Given the description of an element on the screen output the (x, y) to click on. 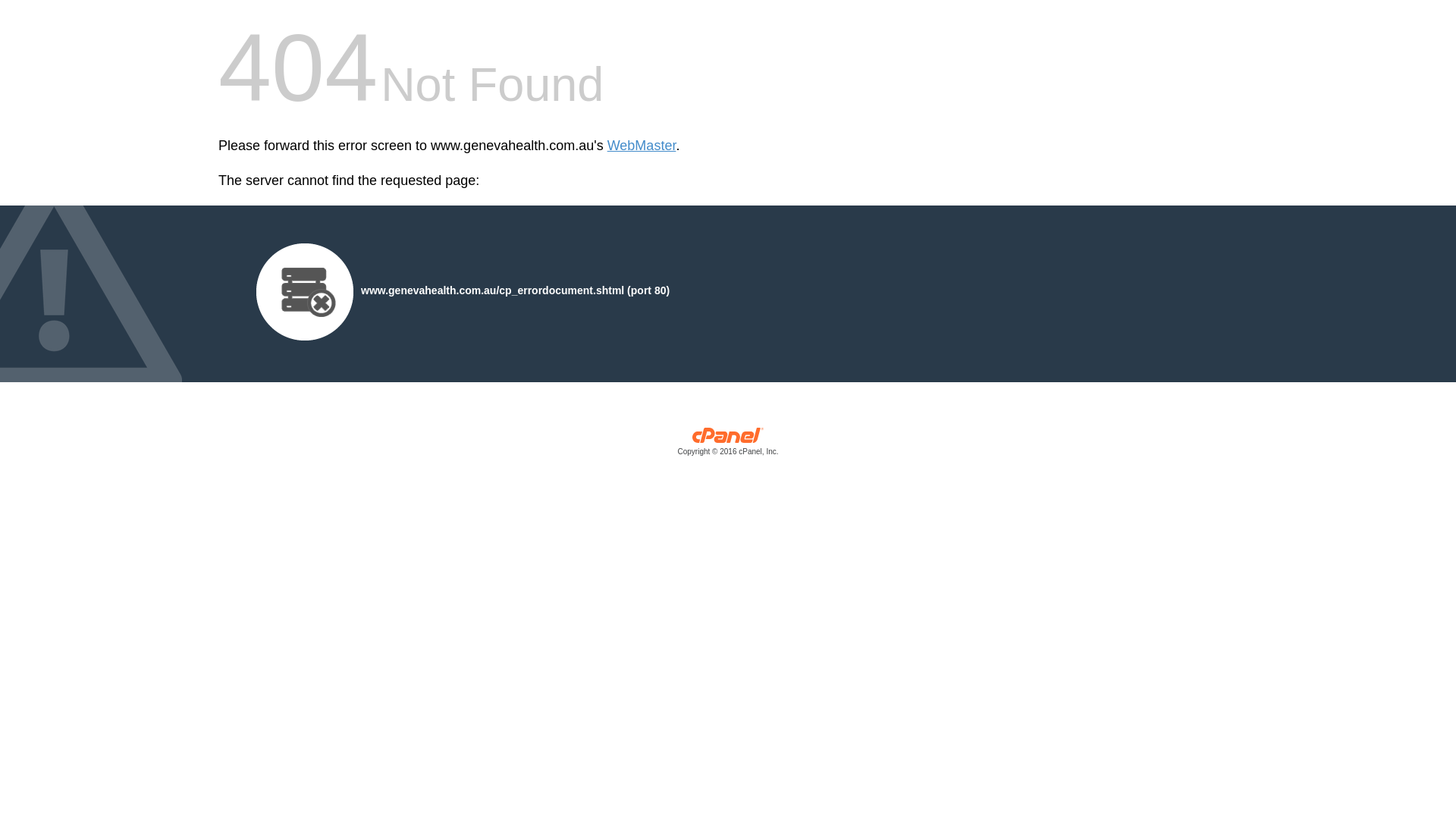
WebMaster Element type: text (641, 145)
